Given the description of an element on the screen output the (x, y) to click on. 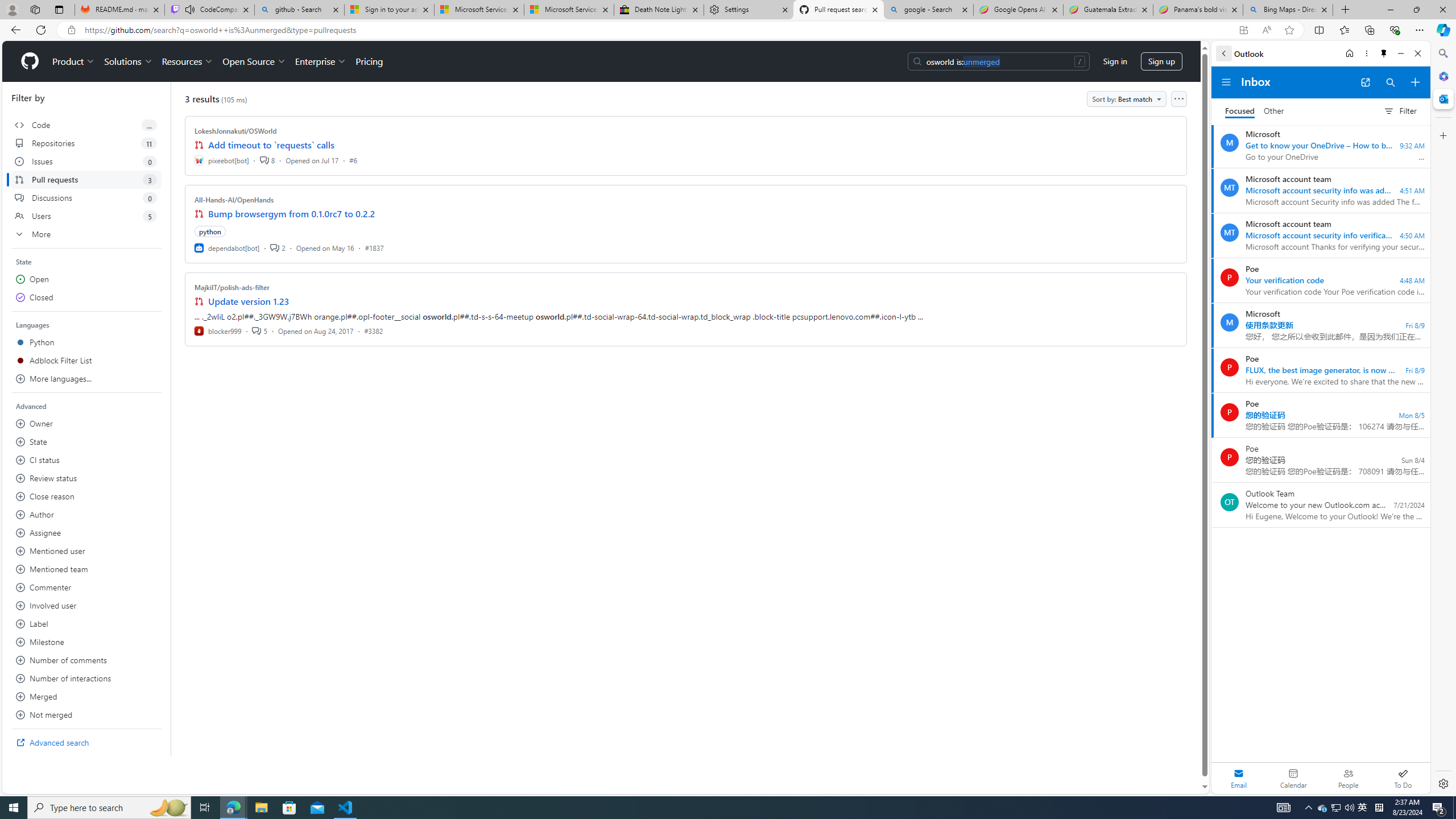
Open Source (254, 60)
#3382 (373, 330)
